Given the description of an element on the screen output the (x, y) to click on. 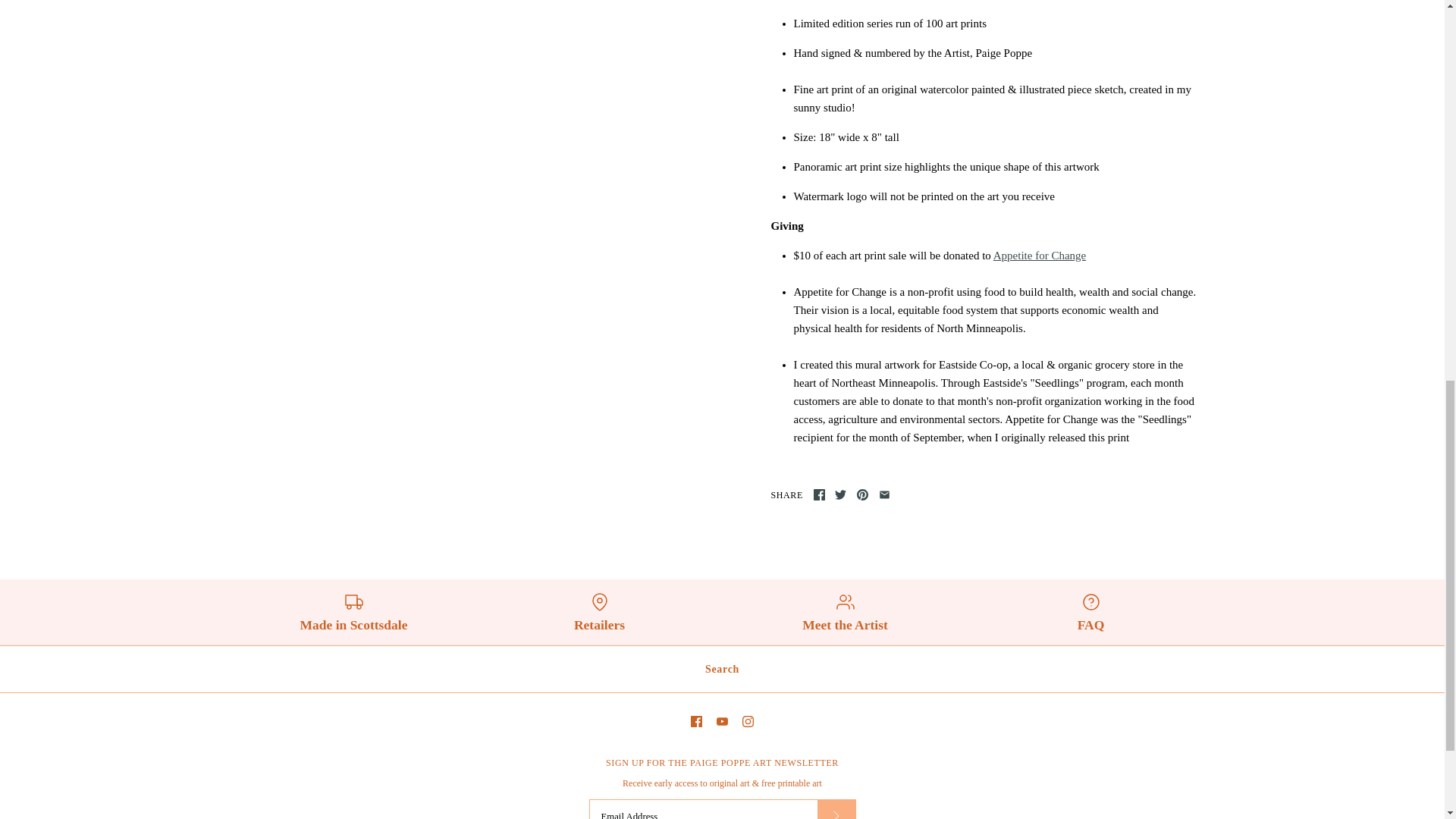
Instagram (748, 721)
Youtube (722, 721)
Pin the main image (862, 494)
Facebook (695, 721)
Email (884, 494)
Twitter (839, 494)
Share on Facebook (819, 494)
Share on Twitter (839, 494)
Pinterest (862, 494)
Facebook (819, 494)
